Given the description of an element on the screen output the (x, y) to click on. 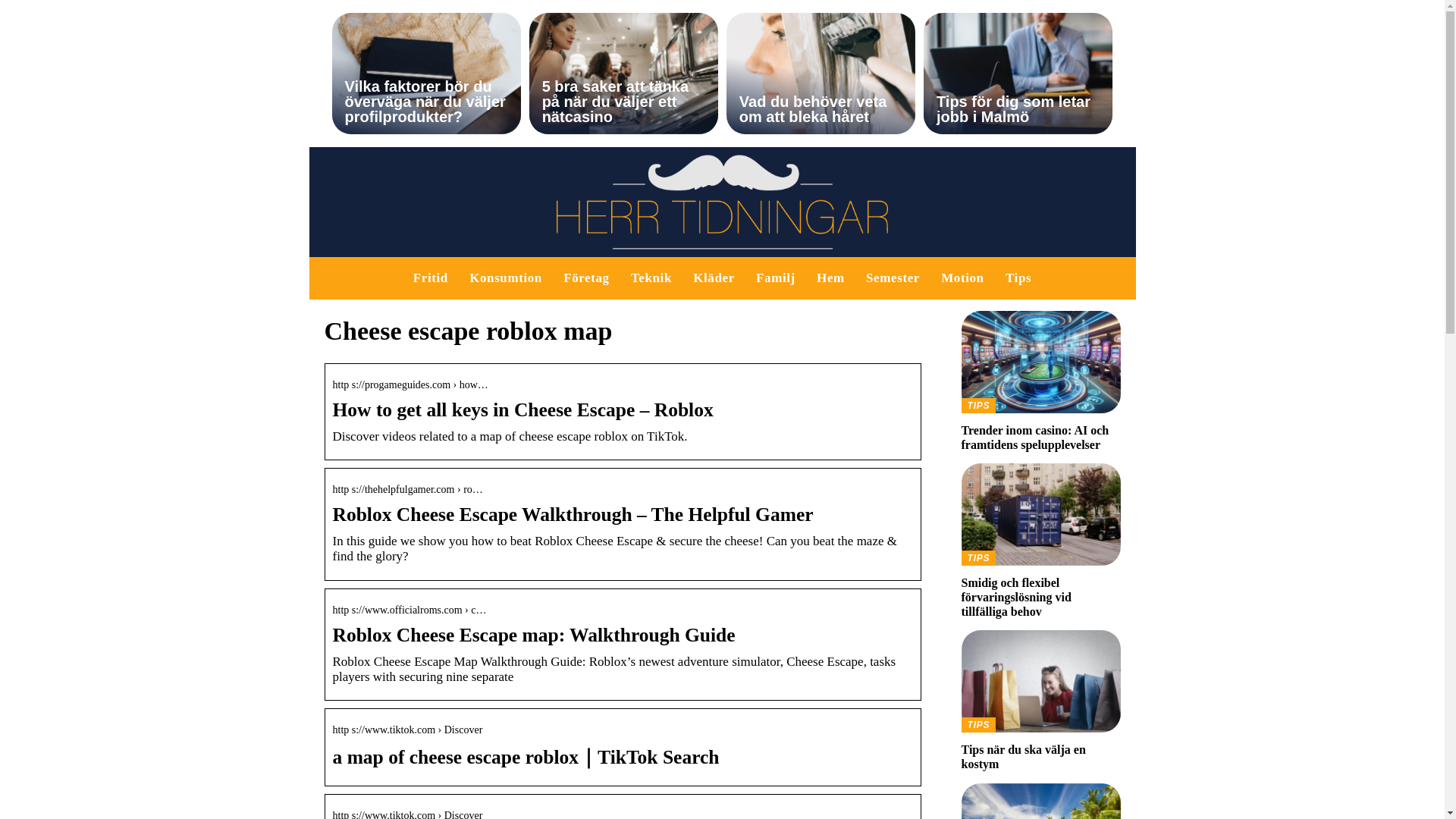
Familj (774, 278)
Konsumtion (504, 278)
Hem (830, 278)
Teknik (650, 278)
Fritid (1040, 381)
Semester (430, 278)
Tips (893, 278)
Motion (1018, 278)
